Given the description of an element on the screen output the (x, y) to click on. 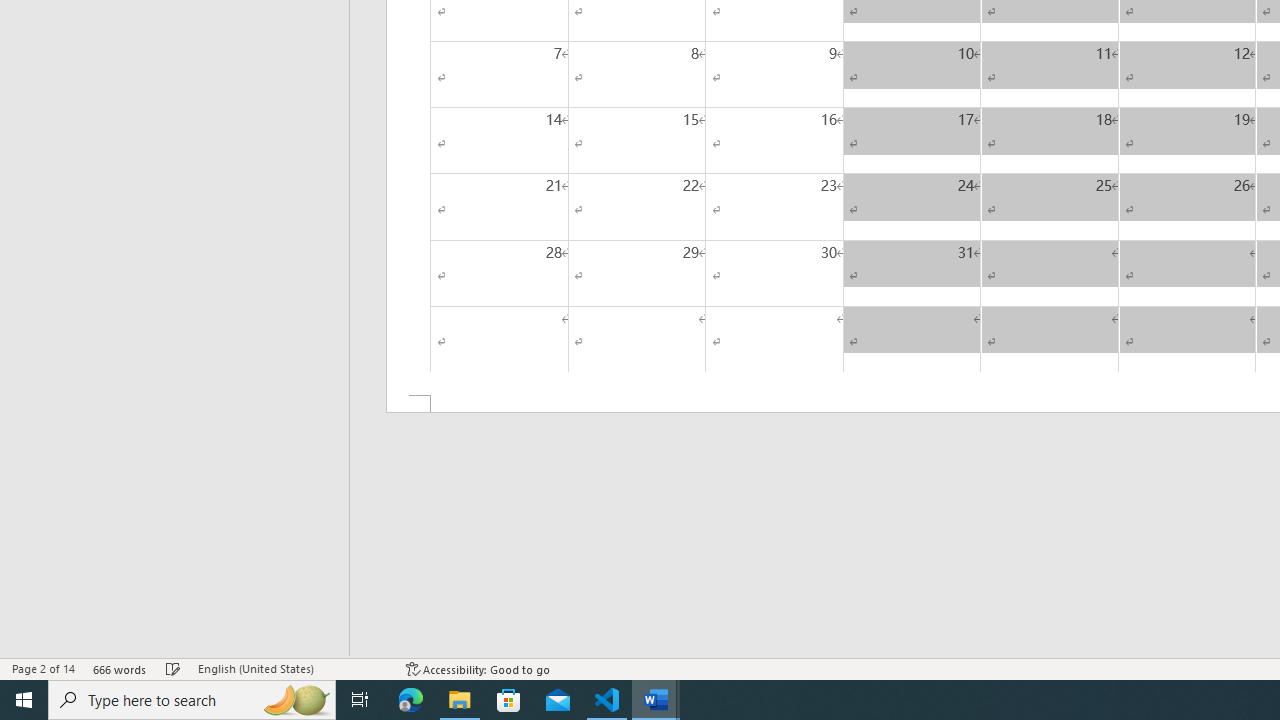
Visual Studio Code - 1 running window (607, 699)
Microsoft Edge (411, 699)
Page Number Page 2 of 14 (43, 668)
Word - 2 running windows (656, 699)
Start (24, 699)
Word Count 666 words (119, 668)
Spelling and Grammar Check No Errors (173, 668)
File Explorer - 1 running window (460, 699)
Type here to search (191, 699)
Task View (359, 699)
Search highlights icon opens search home window (295, 699)
Microsoft Store (509, 699)
